Given the description of an element on the screen output the (x, y) to click on. 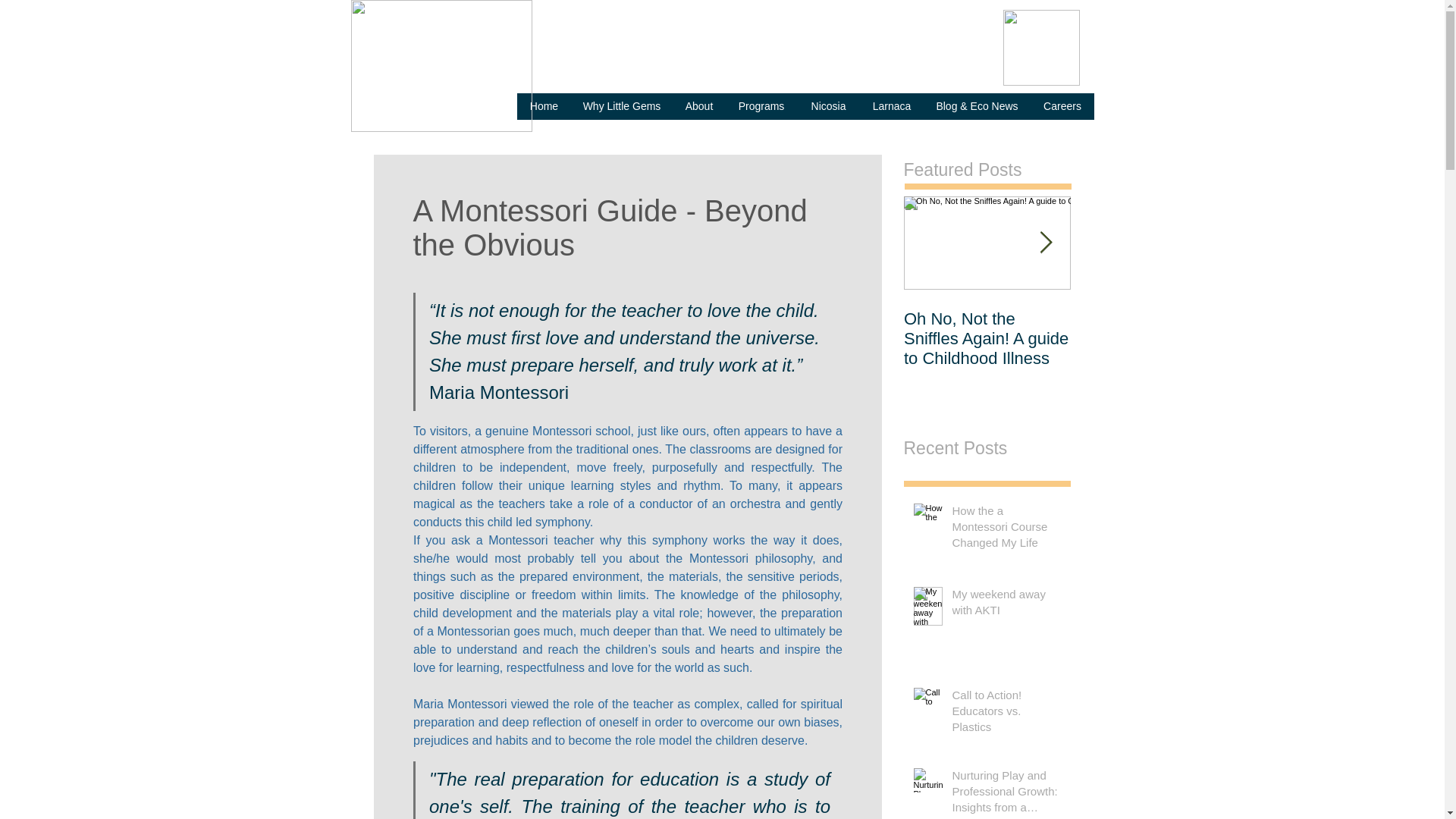
Why Little Gems (622, 106)
Nicosia (828, 106)
My weekend away with AKTI (1006, 605)
Oh No, Not the Sniffles Again! A guide to Childhood Illness (987, 338)
Home (544, 106)
Teaching Kindness (1153, 319)
How the a Montessori Course Changed My Life (1006, 529)
About (698, 106)
Larnaca (891, 106)
